Given the description of an element on the screen output the (x, y) to click on. 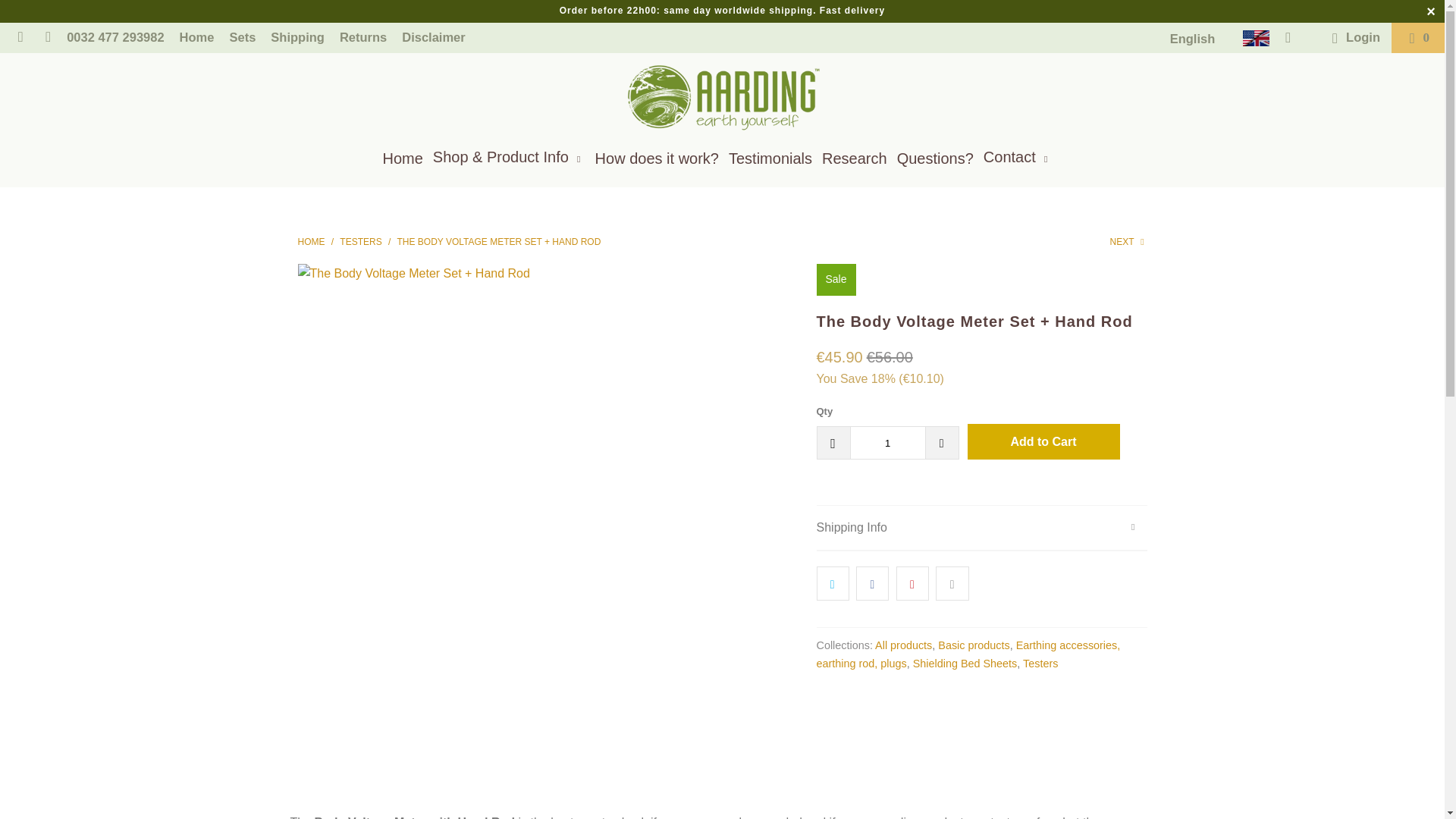
1 (886, 442)
Email Aarding (19, 37)
Earthing accessories, earthing rod, plugs (967, 654)
Shielding Bed Sheets (964, 663)
Next (1128, 241)
Aarding (310, 241)
Share this on Pinterest (912, 583)
Testers (1040, 663)
All products (903, 645)
Share this on Facebook (872, 583)
